Given the description of an element on the screen output the (x, y) to click on. 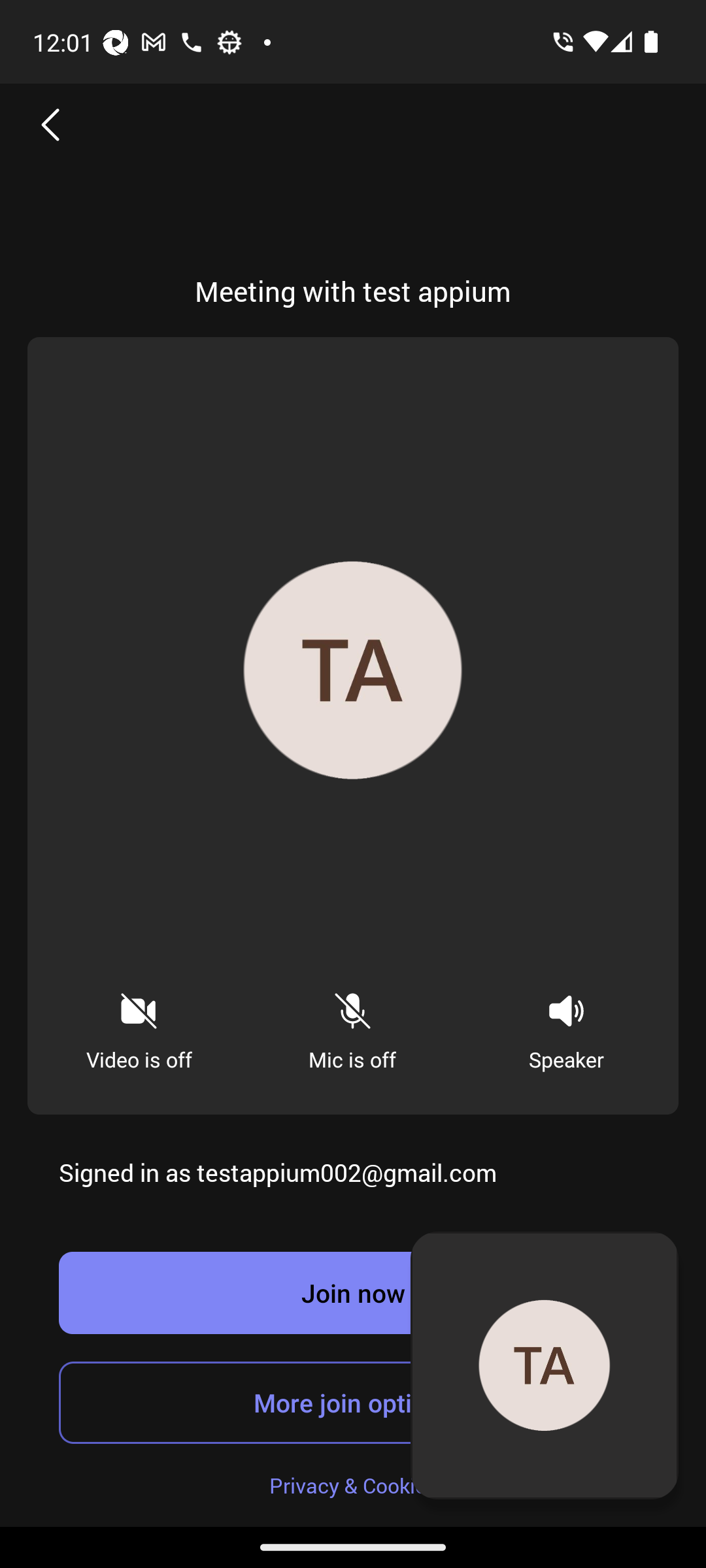
Back (51, 124)
Video is off (138, 1025)
Mic muted Mic is off (352, 1025)
Audio Speaker Audio Speaker (566, 1025)
